Given the description of an element on the screen output the (x, y) to click on. 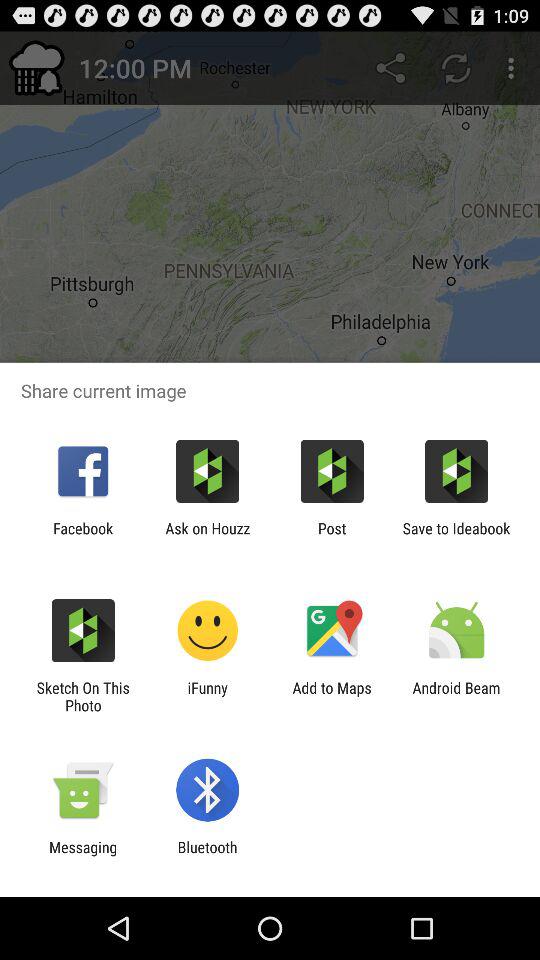
press the icon to the right of the ask on houzz icon (331, 537)
